Given the description of an element on the screen output the (x, y) to click on. 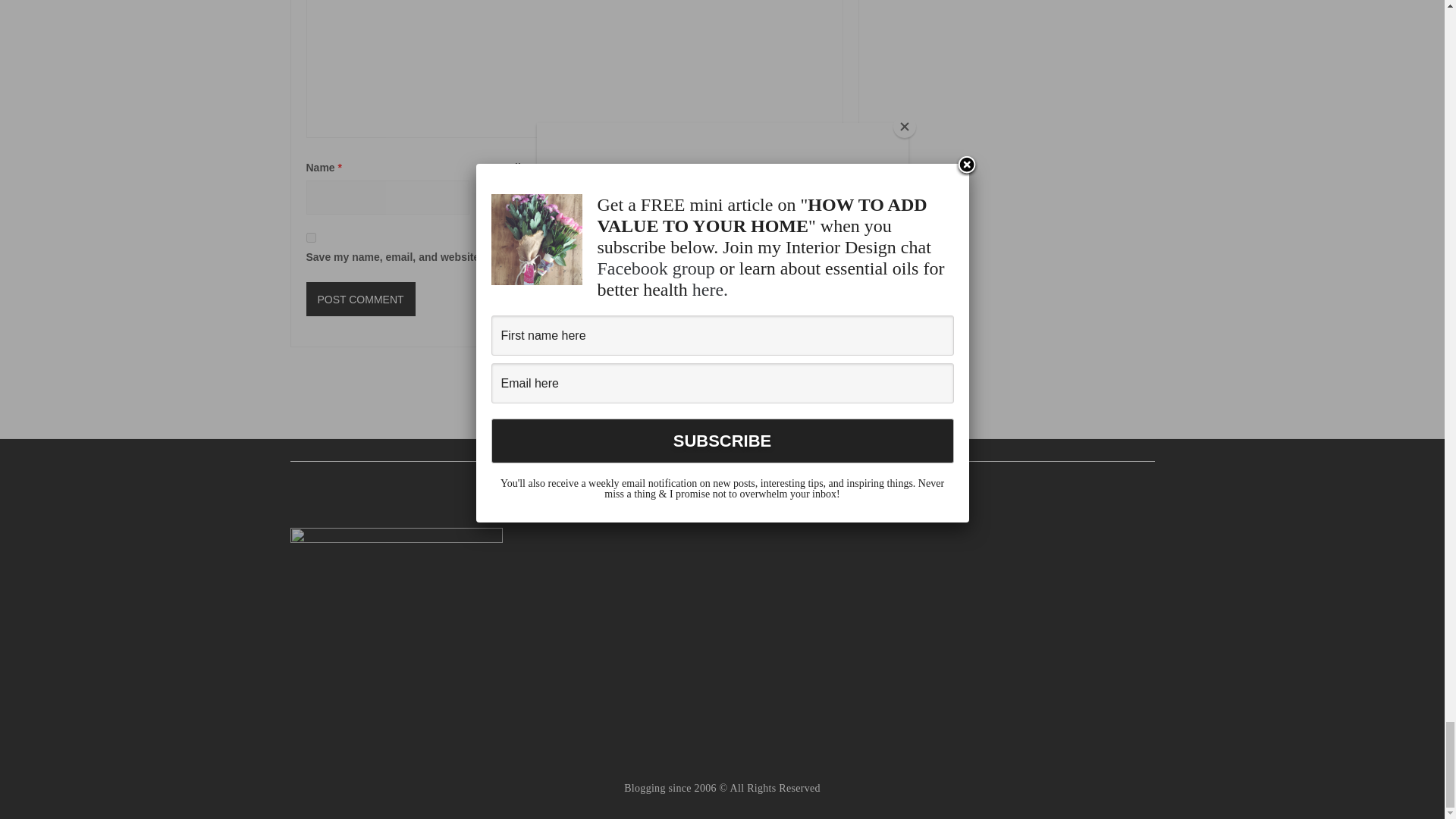
Post Comment (359, 298)
Post Comment (359, 298)
yes (310, 237)
